Given the description of an element on the screen output the (x, y) to click on. 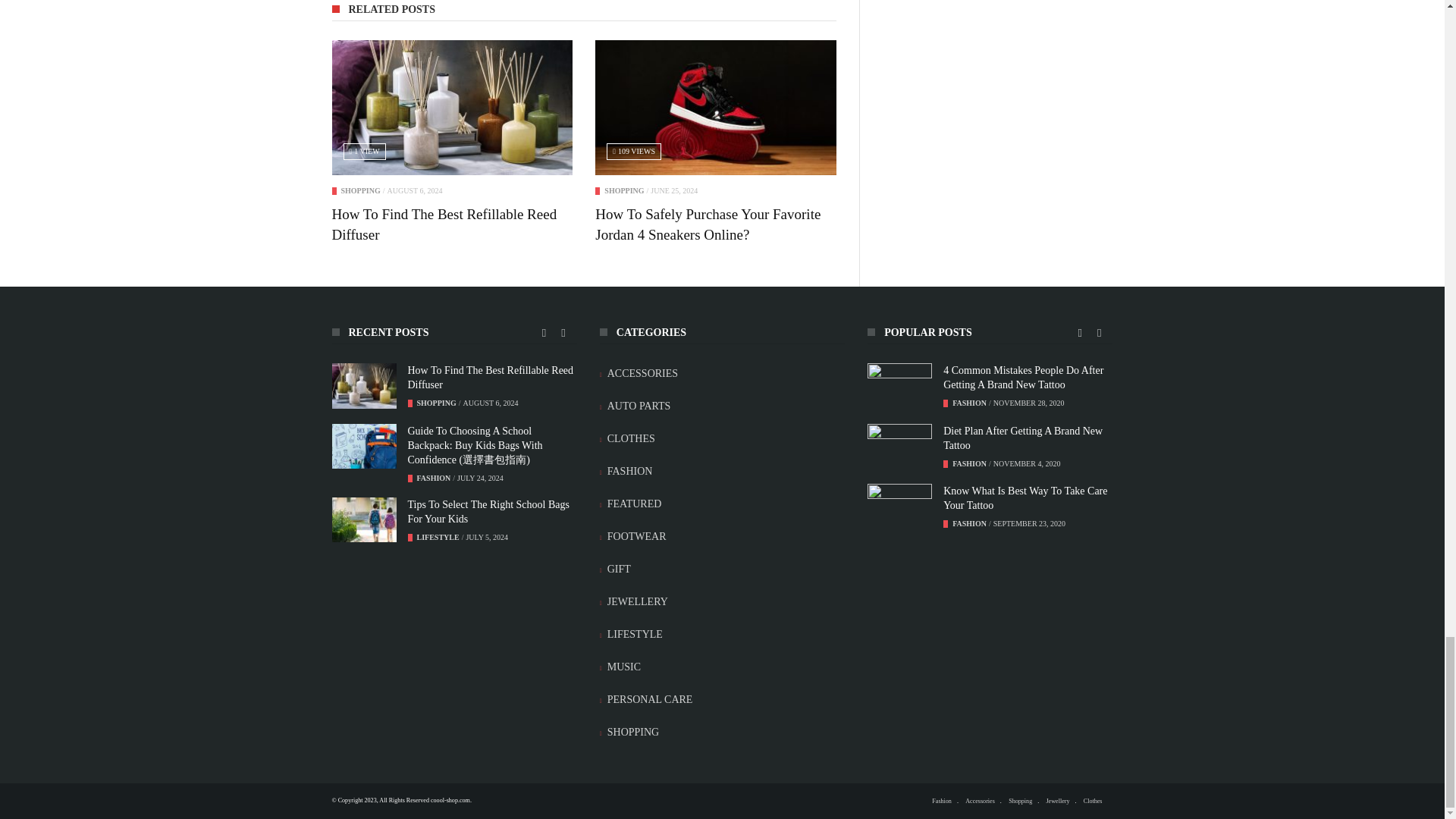
SHOPPING (360, 190)
How To Find The Best Refillable Reed Diffuser (452, 108)
Shopping (623, 190)
How To Find The Best Refillable Reed Diffuser (444, 224)
Shopping (360, 190)
How To Find The Best Refillable Reed Diffuser (444, 224)
